Given the description of an element on the screen output the (x, y) to click on. 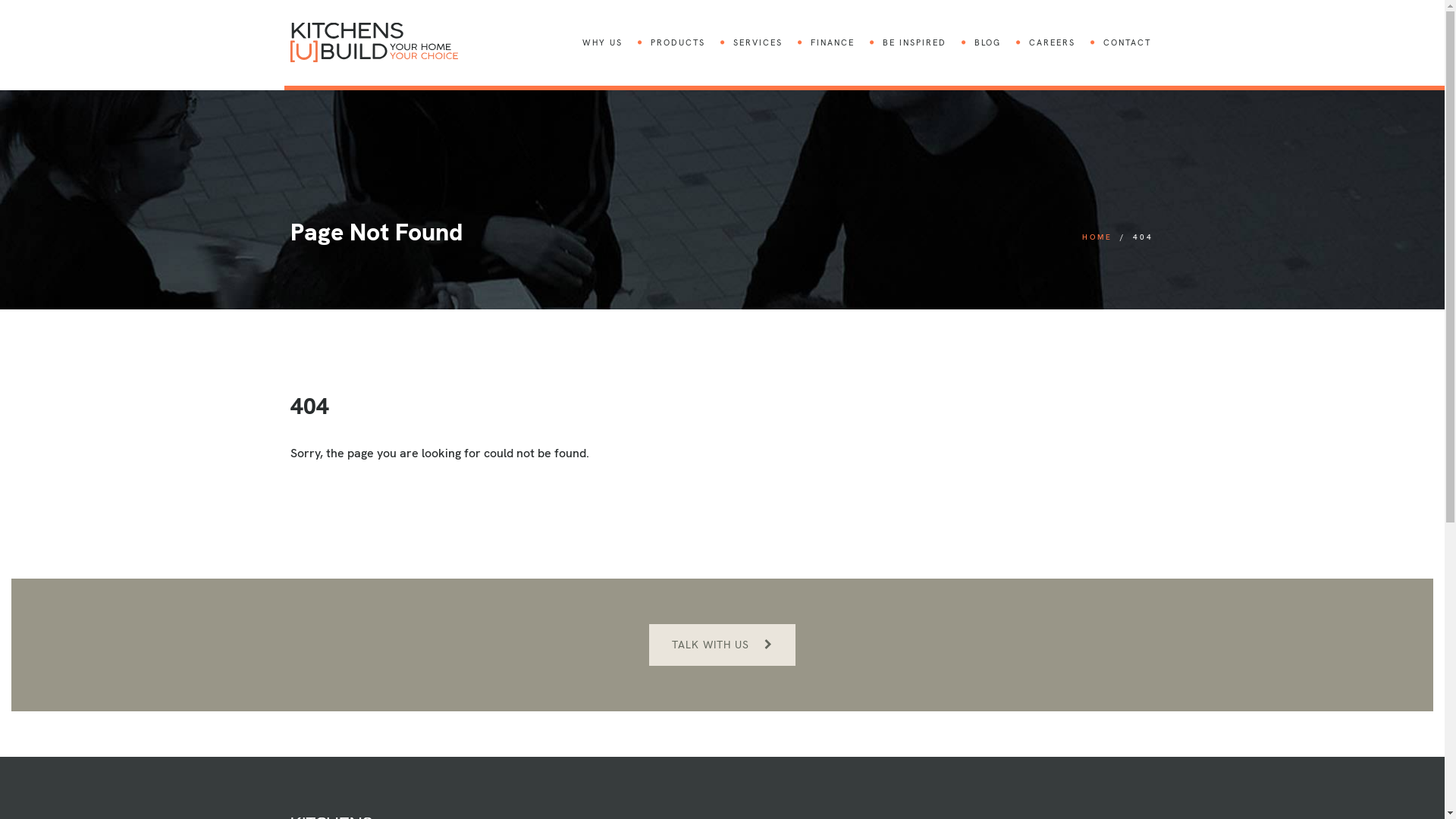
HOME Element type: text (1096, 236)
BE INSPIRED Element type: text (923, 41)
CAREERS Element type: text (1062, 41)
FINANCE Element type: text (842, 41)
BLOG Element type: text (997, 41)
TALK WITH US Element type: text (722, 644)
WHY US Element type: text (611, 41)
CONTACT Element type: text (1126, 41)
PRODUCTS Element type: text (687, 41)
SERVICES Element type: text (767, 41)
